Given the description of an element on the screen output the (x, y) to click on. 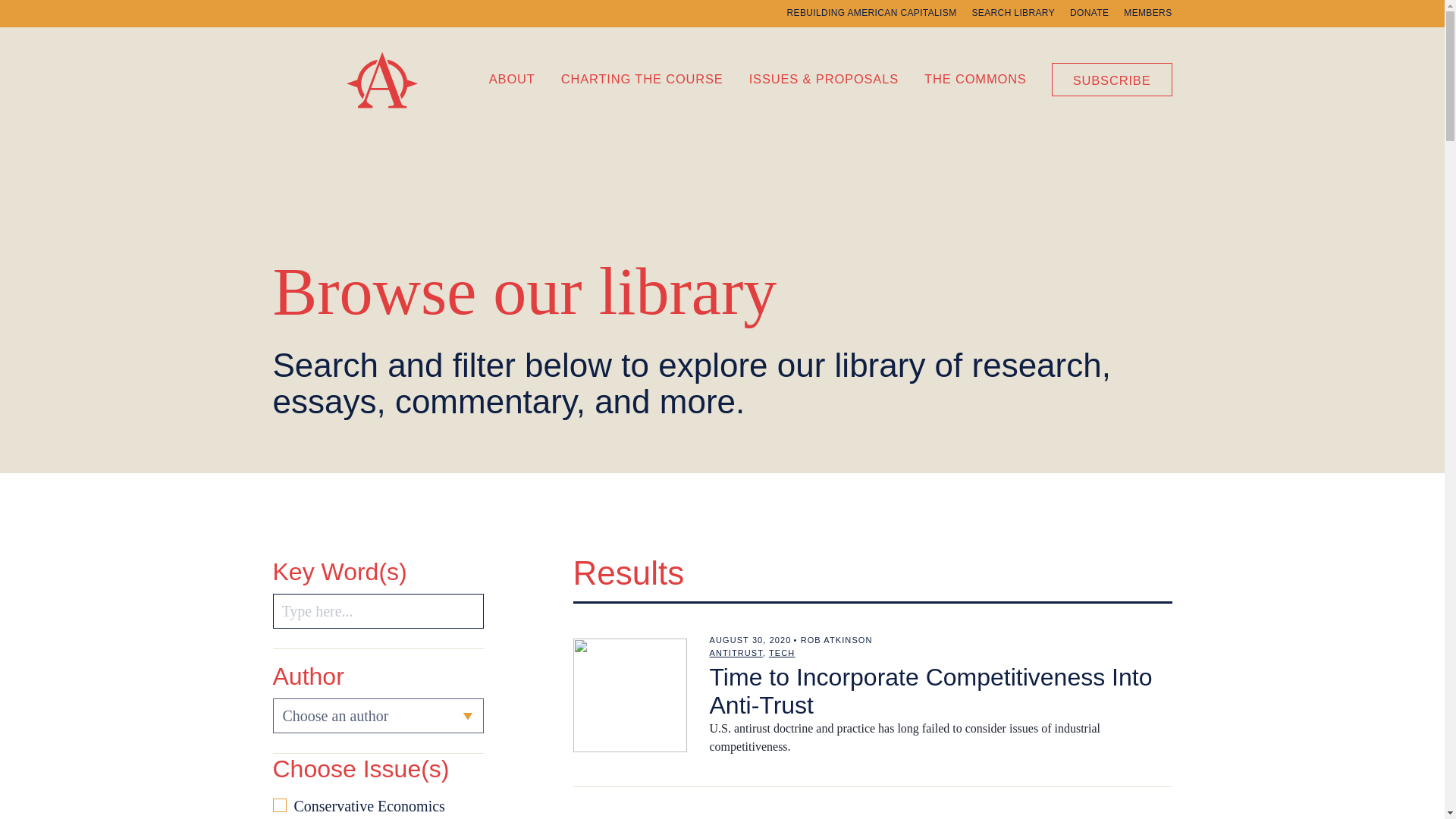
conservative-economics (279, 805)
MEMBERS (1148, 12)
ABOUT (512, 78)
SEARCH LIBRARY (1012, 12)
THE COMMONS (975, 78)
SUBSCRIBE (1111, 78)
Search (378, 610)
DONATE (1089, 12)
REBUILDING AMERICAN CAPITALISM (871, 12)
CHARTING THE COURSE (641, 78)
American Compass (398, 116)
